Given the description of an element on the screen output the (x, y) to click on. 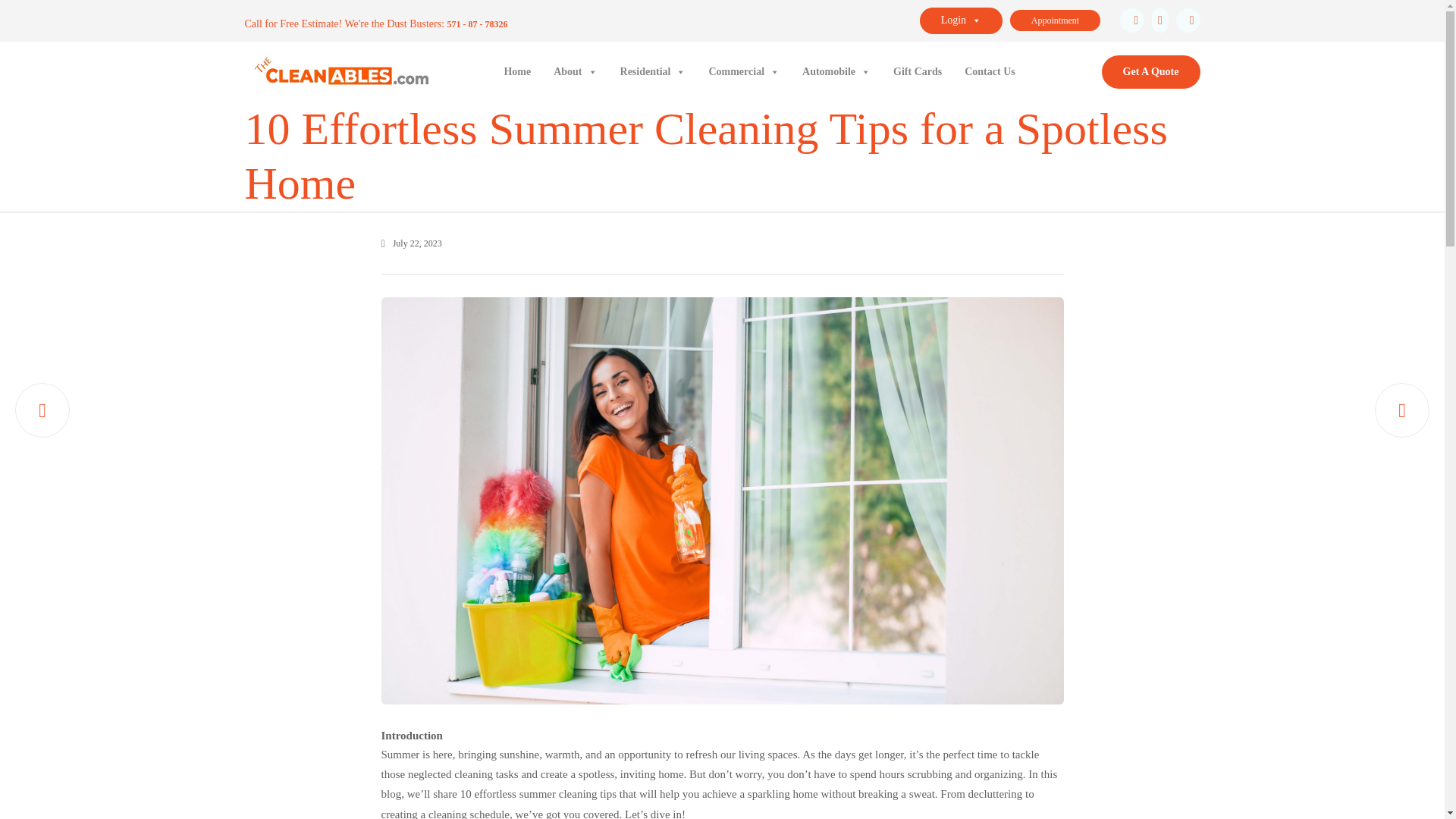
Automobile (836, 71)
Get A Quote (1150, 71)
Home (517, 71)
The Cleanables (338, 71)
571 - 87 - 78326 (477, 24)
Appointment (1055, 20)
Commercial (743, 71)
Residential (653, 71)
About (575, 71)
Appointment (1055, 20)
